Given the description of an element on the screen output the (x, y) to click on. 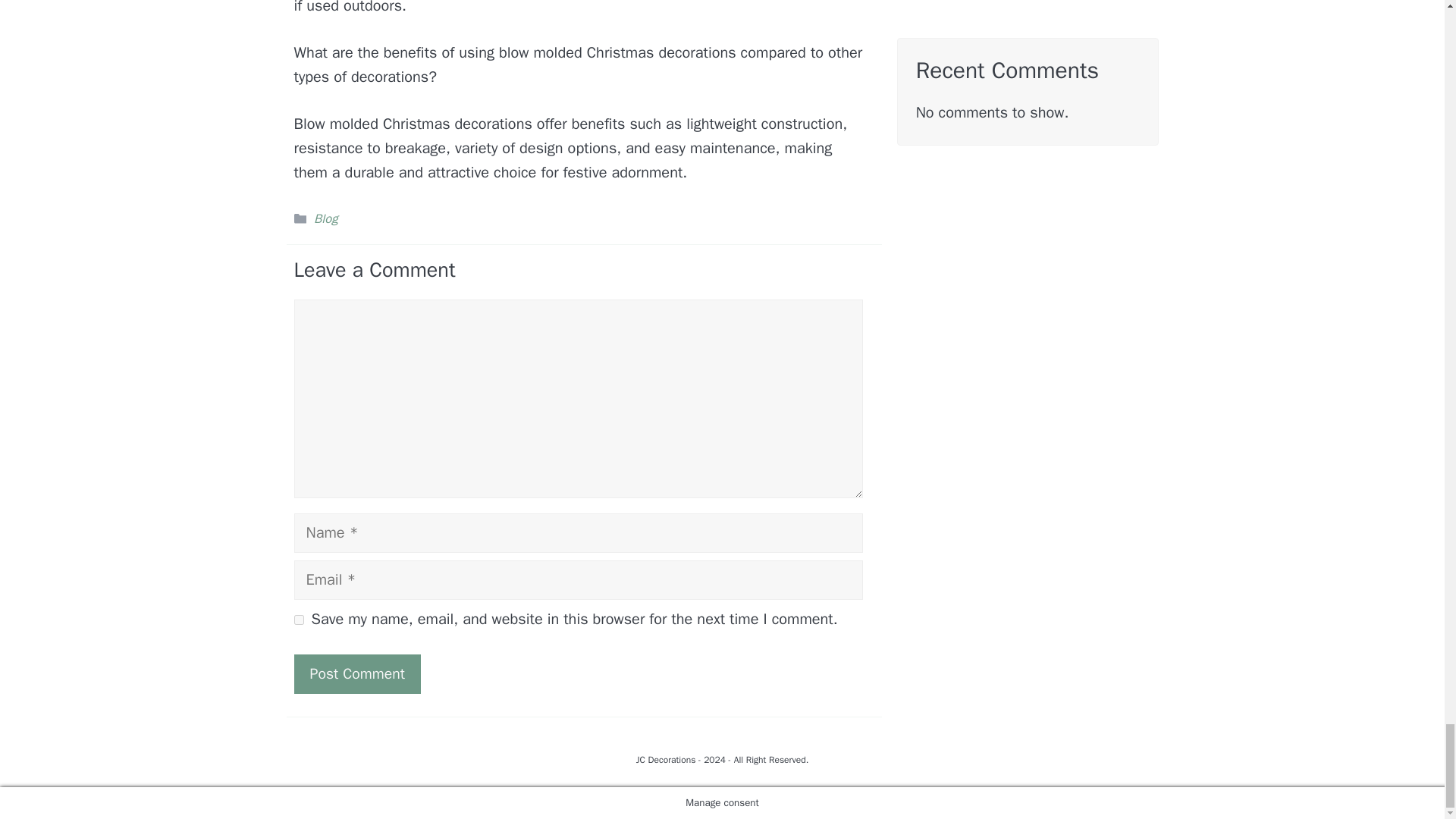
yes (299, 619)
Blog (325, 218)
Post Comment (357, 673)
Post Comment (357, 673)
